Given the description of an element on the screen output the (x, y) to click on. 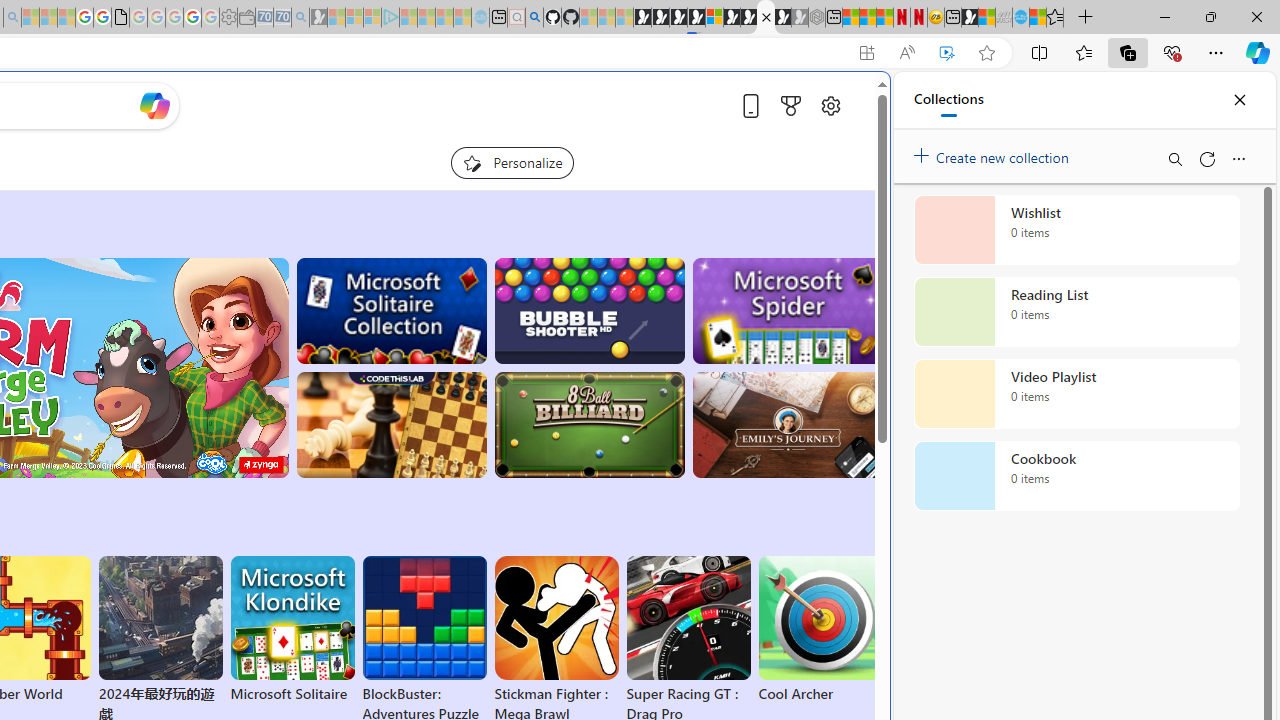
App available. Install Games from Microsoft Start (867, 53)
Play Cave FRVR in your browser | Games from Microsoft Start (343, 426)
Frequently visited (418, 265)
